Given the description of an element on the screen output the (x, y) to click on. 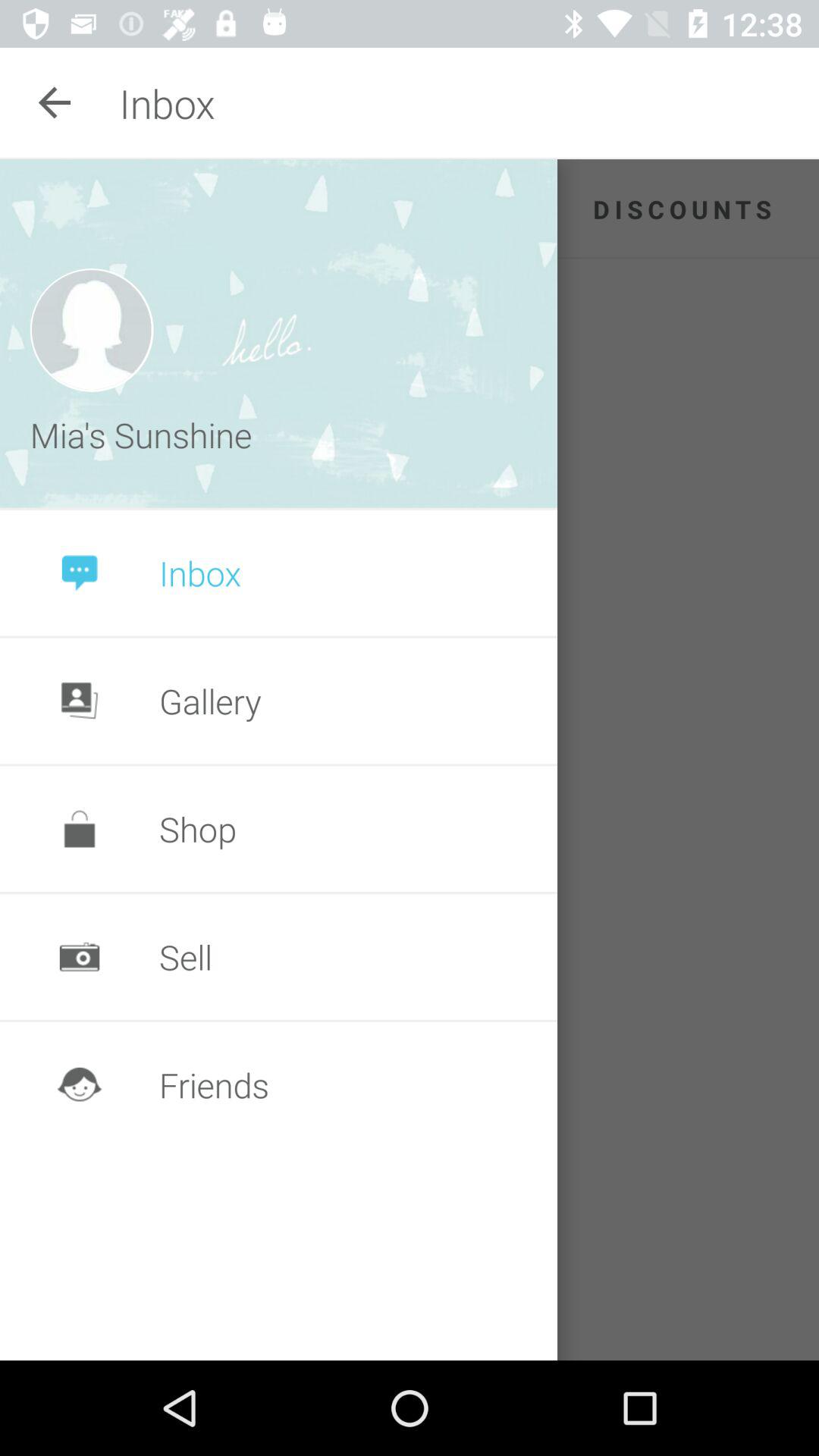
open the shop icon (197, 828)
